Given the description of an element on the screen output the (x, y) to click on. 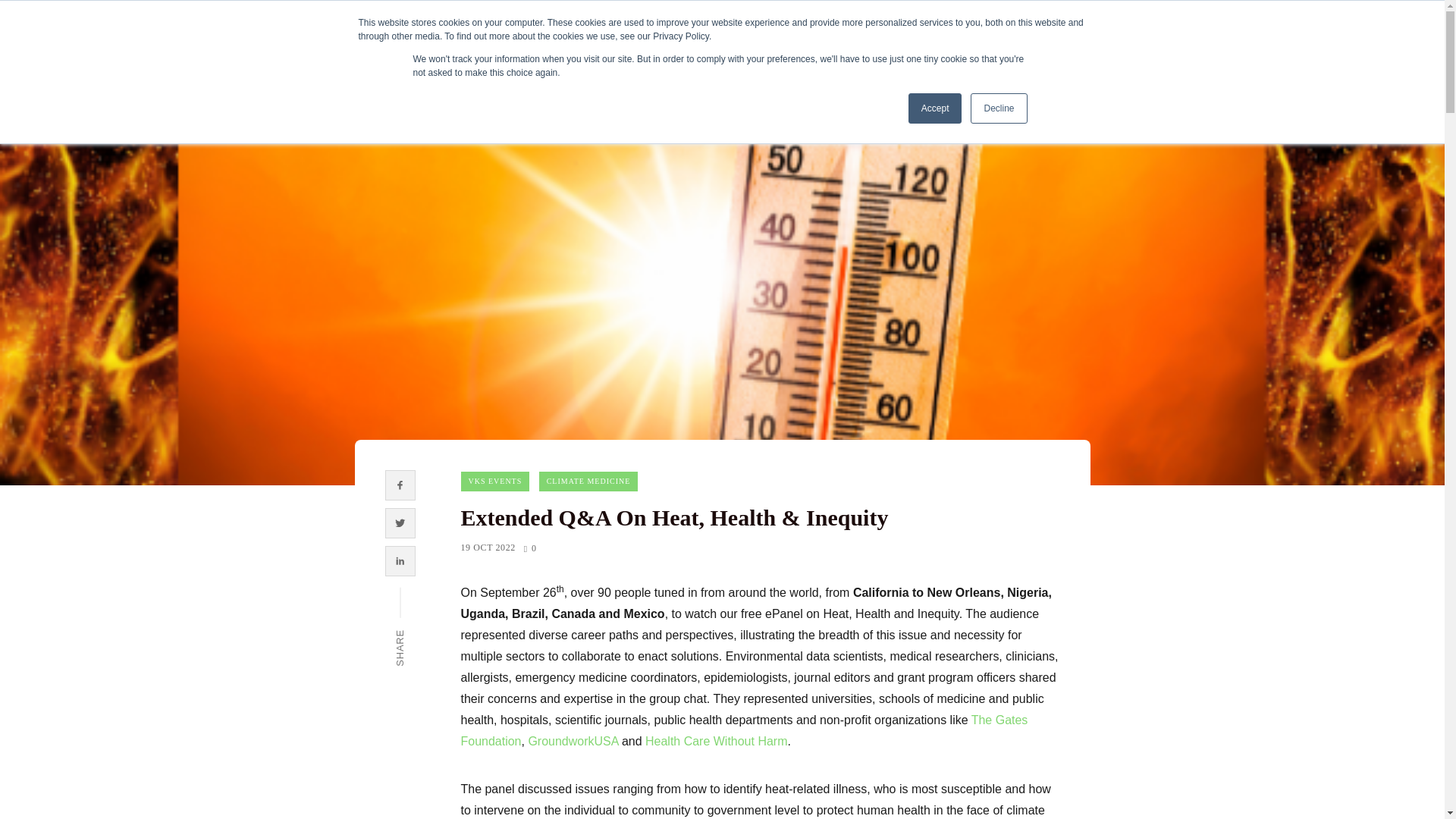
VKS (738, 45)
Accept (935, 108)
HOME (527, 45)
Decline (998, 108)
Share on Facebook (399, 484)
FEATURES (912, 45)
Keypoint-Logo-Blog-REVERSE (101, 45)
Share on Linkedin (399, 561)
Share on Twitter (399, 523)
CHANNELS (817, 45)
CONFERENCE NEWS (635, 45)
